Given the description of an element on the screen output the (x, y) to click on. 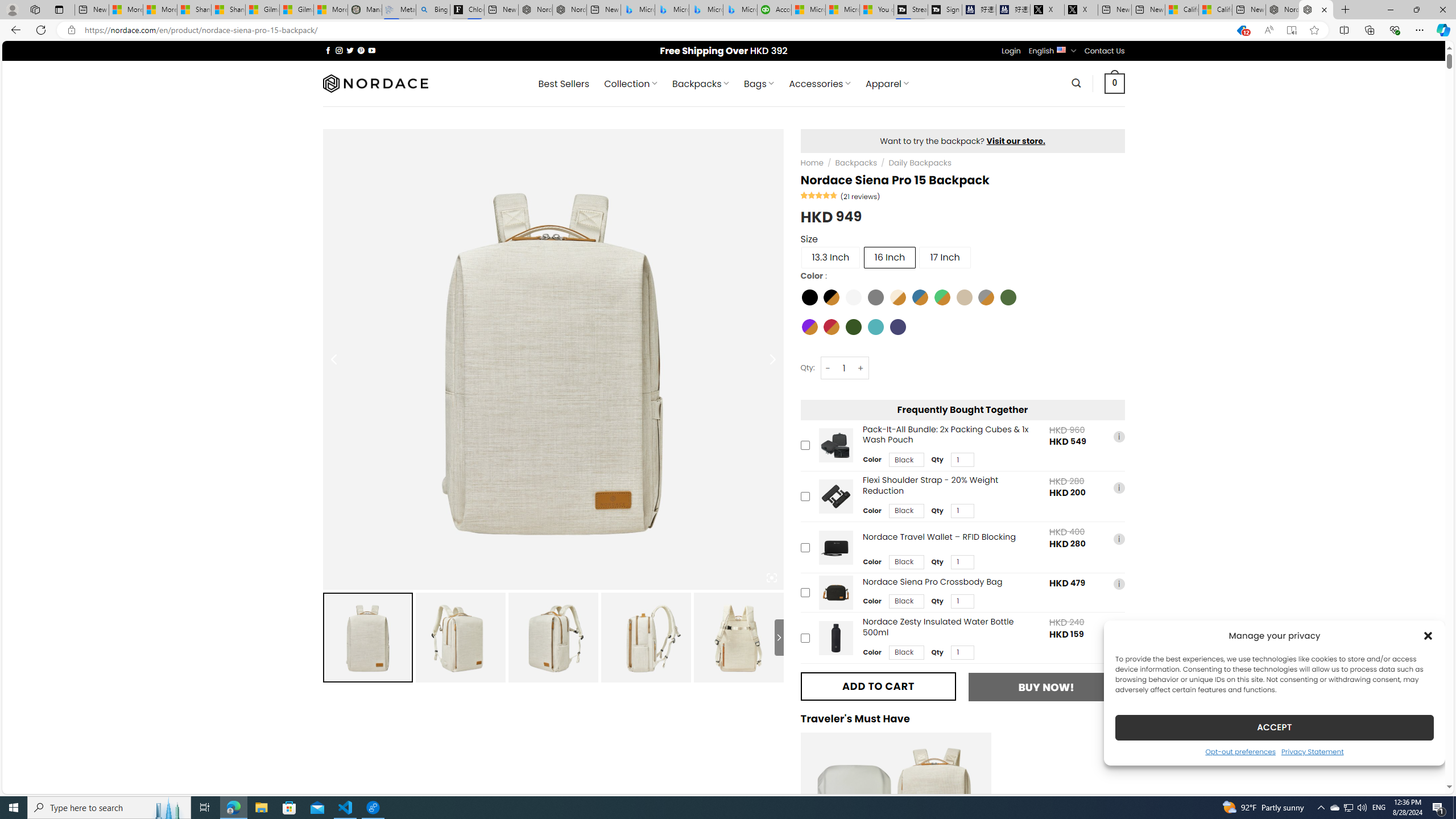
17 Inch (944, 257)
Follow on Pinterest (360, 49)
 Best Sellers (563, 83)
Class: iconic-woothumbs-fullscreen (771, 577)
ADD TO CART (878, 686)
Contact Us (1104, 50)
